Given the description of an element on the screen output the (x, y) to click on. 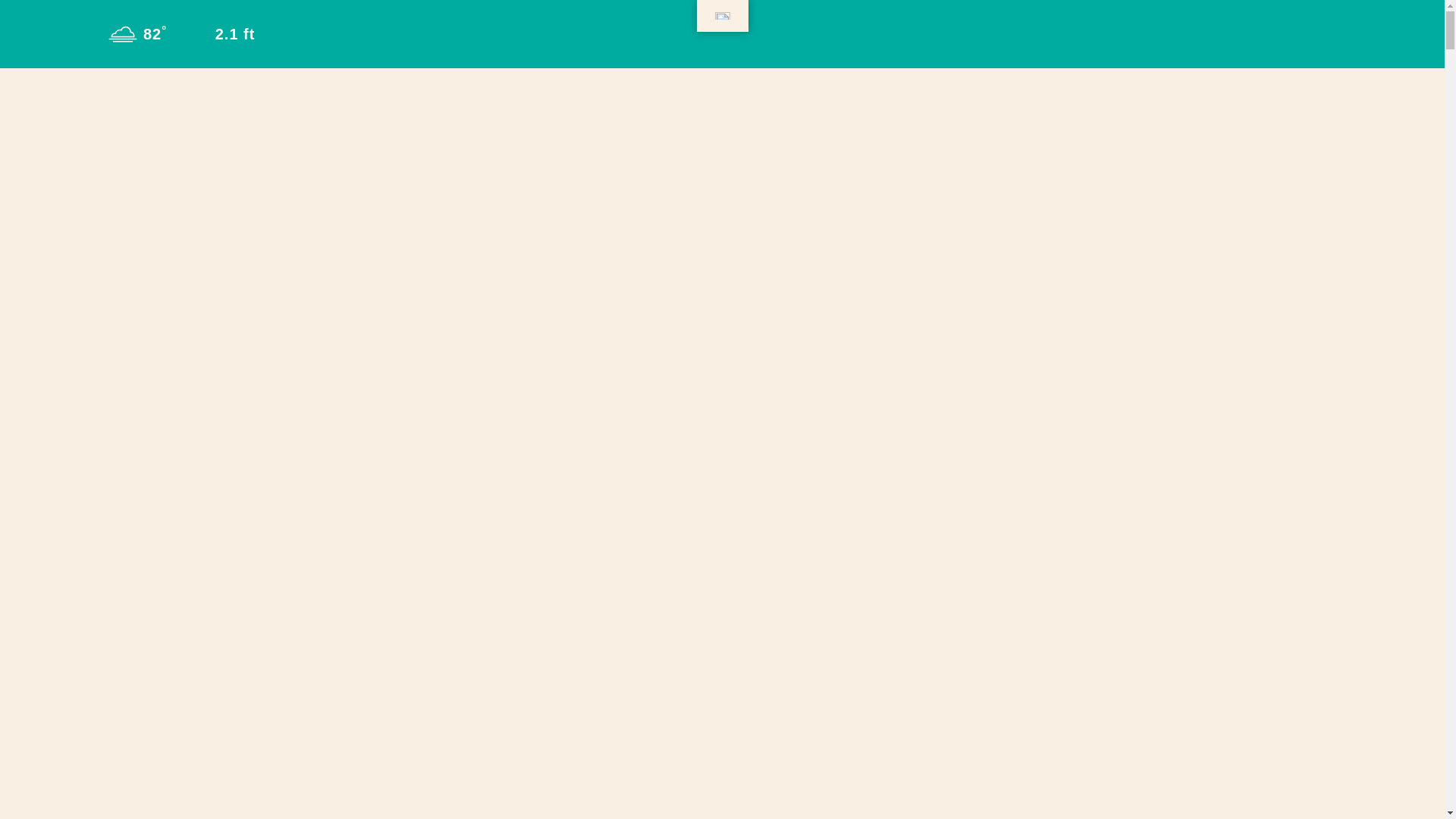
2.1 ft (218, 33)
Skip to content (17, 15)
